Given the description of an element on the screen output the (x, y) to click on. 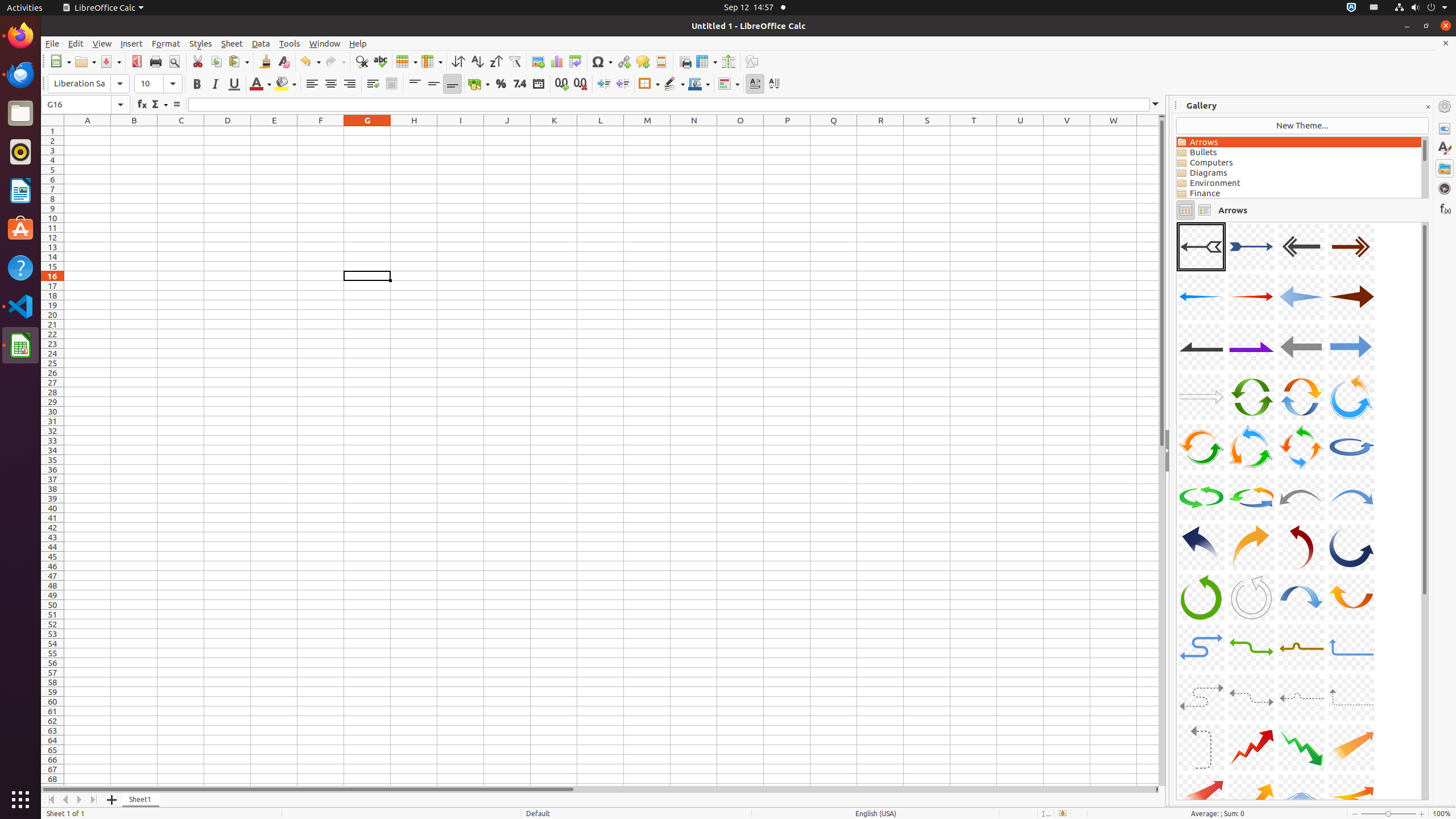
A36-CurvedArrow-LightBlue-Up Element type: list-item (1350, 646)
A15-CircleArrow Element type: list-item (1300, 396)
L1 Element type: table-cell (600, 130)
Thunderbird Mail Element type: push-button (20, 74)
F1 Element type: table-cell (320, 130)
